Given the description of an element on the screen output the (x, y) to click on. 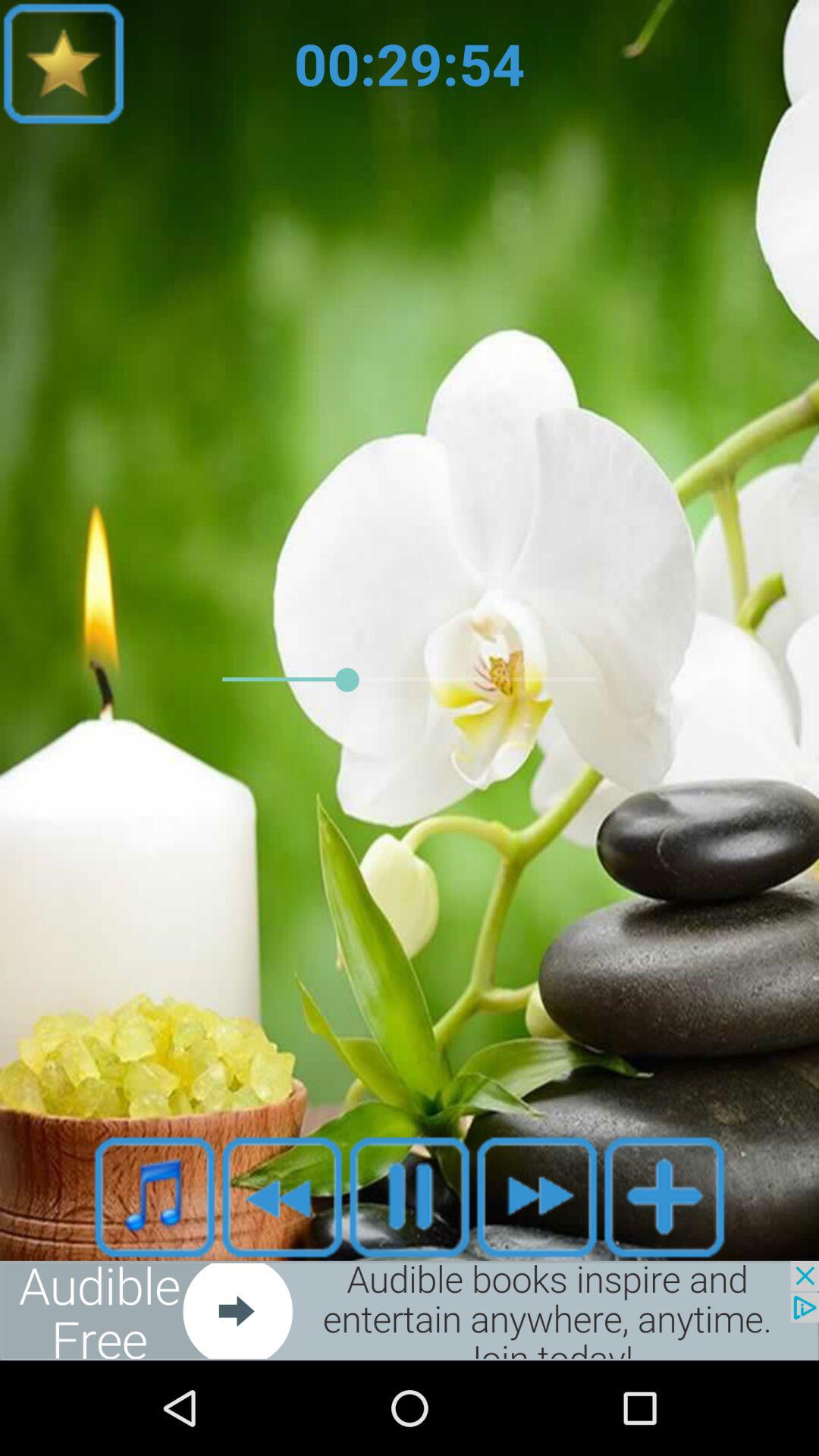
book mark the page (63, 63)
